Given the description of an element on the screen output the (x, y) to click on. 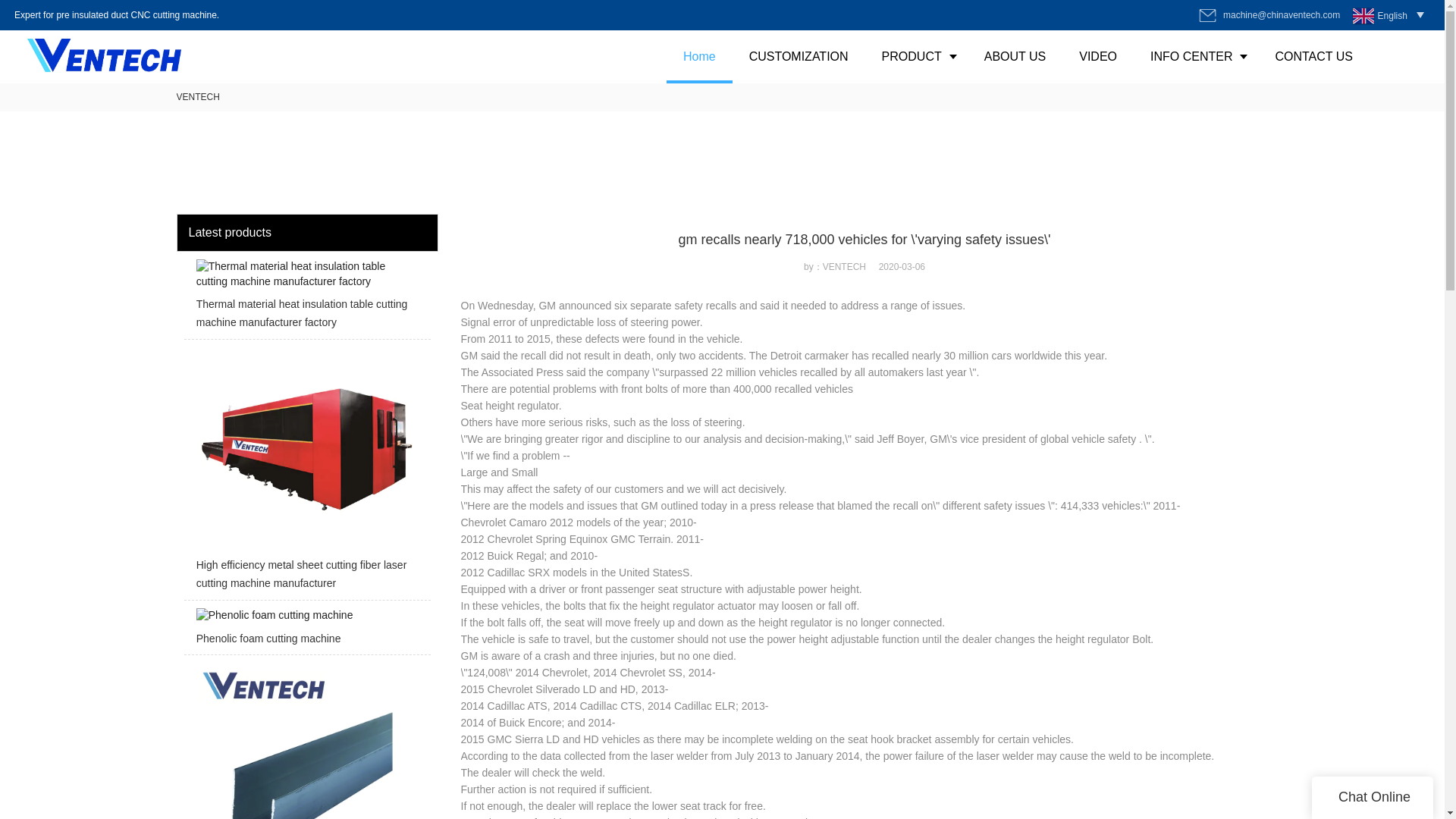
ABOUT US (1015, 56)
CUSTOMIZATION (798, 56)
Home (699, 56)
CONTACT US (1313, 56)
Phenolic foam cutting machine (306, 631)
INFO CENTER (1195, 56)
VENTECH (197, 96)
PRODUCT (916, 56)
